Given the description of an element on the screen output the (x, y) to click on. 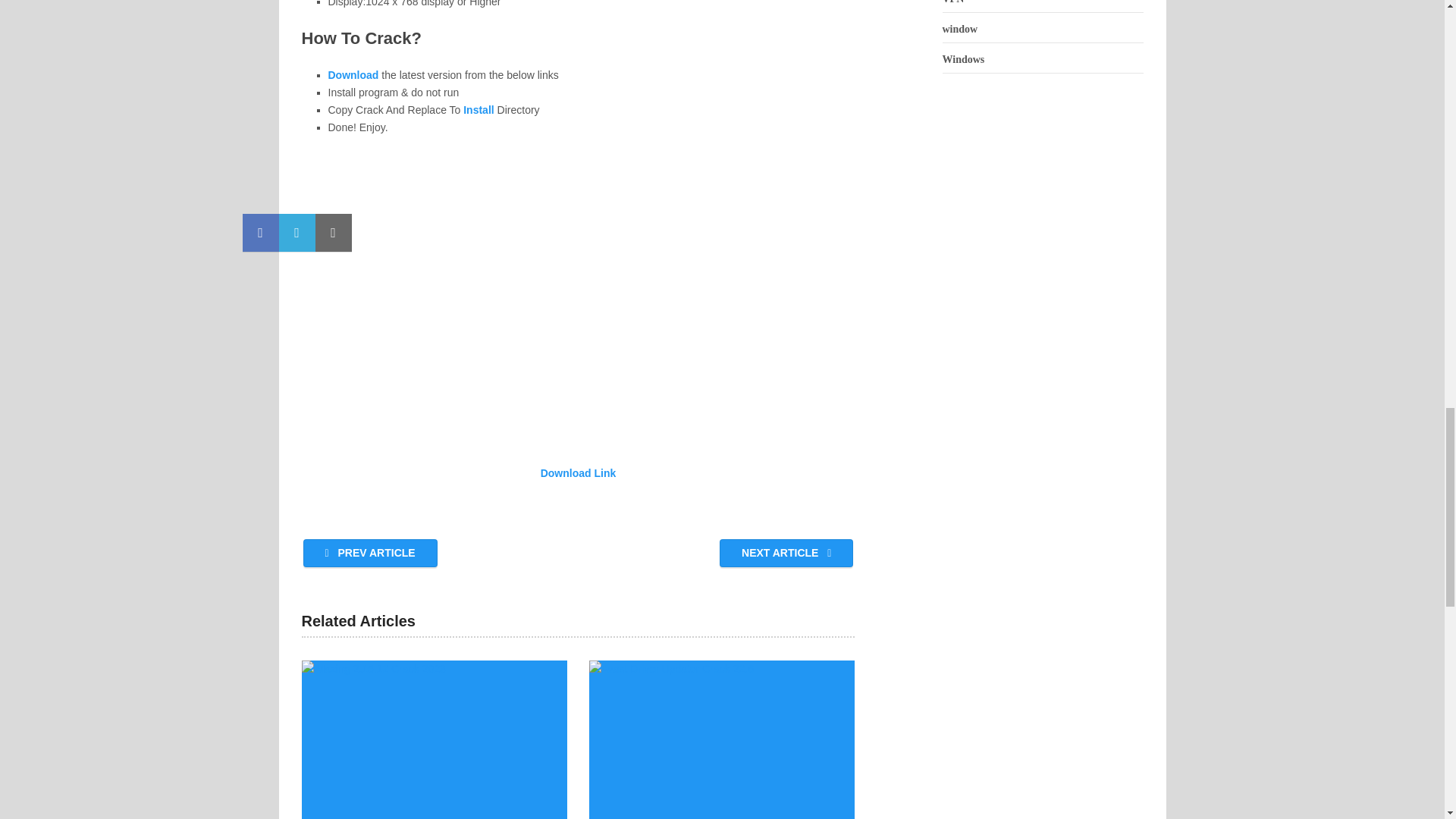
PREV ARTICLE (370, 552)
NEXT ARTICLE (786, 552)
Install (478, 110)
Download Link (577, 472)
Download (352, 74)
